Given the description of an element on the screen output the (x, y) to click on. 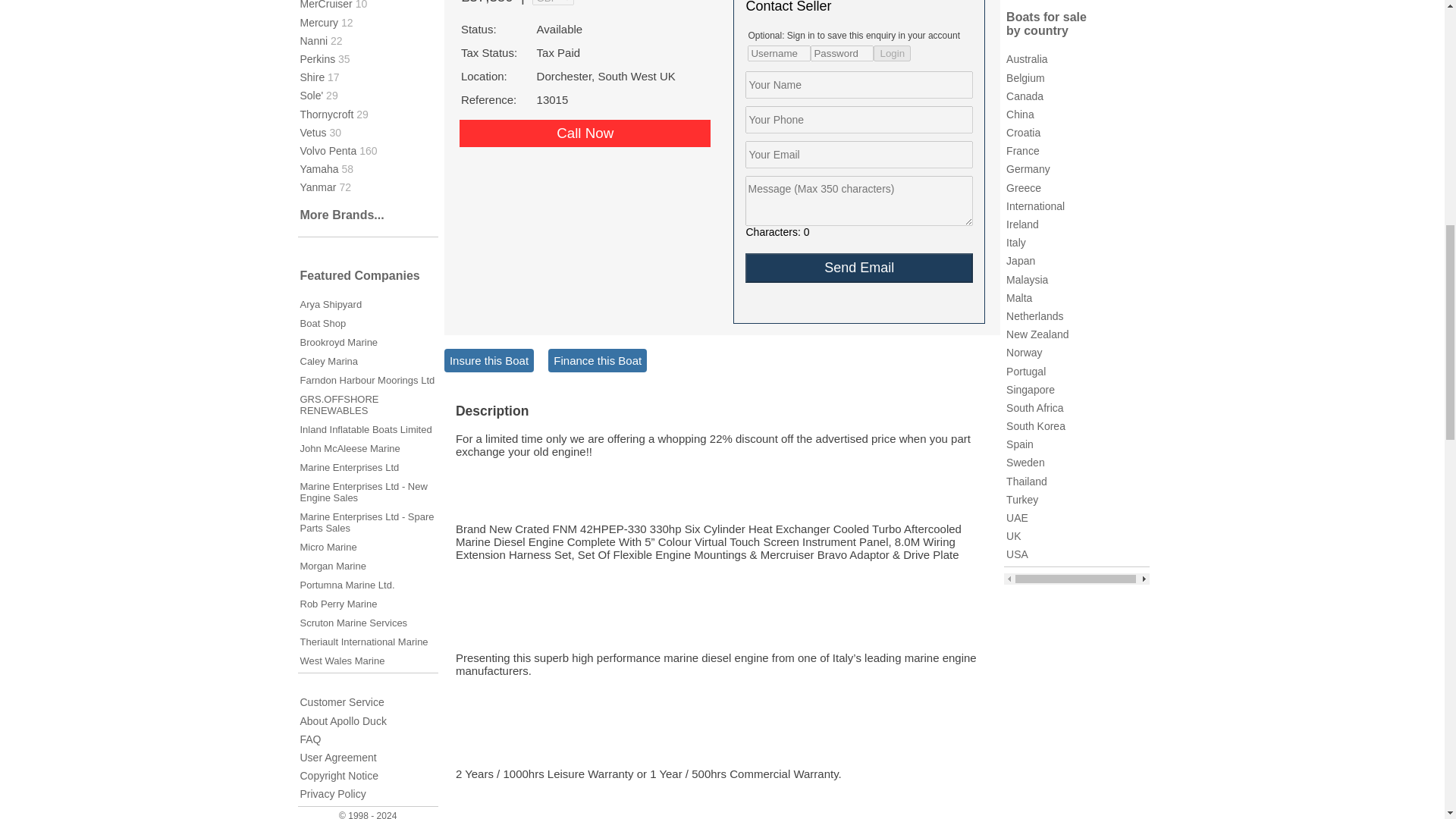
Micro Marine, India (327, 546)
Scruton Marine Services, Canada (353, 622)
Marine Enterprises Ltd - New Engine Sales, UK (363, 491)
Portumna Marine Ltd., Ireland (346, 584)
Caley Marina, UK (328, 360)
Theriault International Marine, Canada (363, 641)
Login (892, 53)
West Wales Marine, UK (342, 660)
GRS.OFFSHORE RENEWABLES, Germany (338, 404)
Send Email (858, 267)
Marine Enterprises Ltd - Spare Parts Sales, UK (366, 522)
Boat Shop, UK (322, 323)
John McAleese Marine, UK (349, 448)
Rob Perry Marine, UK (338, 603)
Farndon Harbour Moorings Ltd, UK (367, 379)
